Given the description of an element on the screen output the (x, y) to click on. 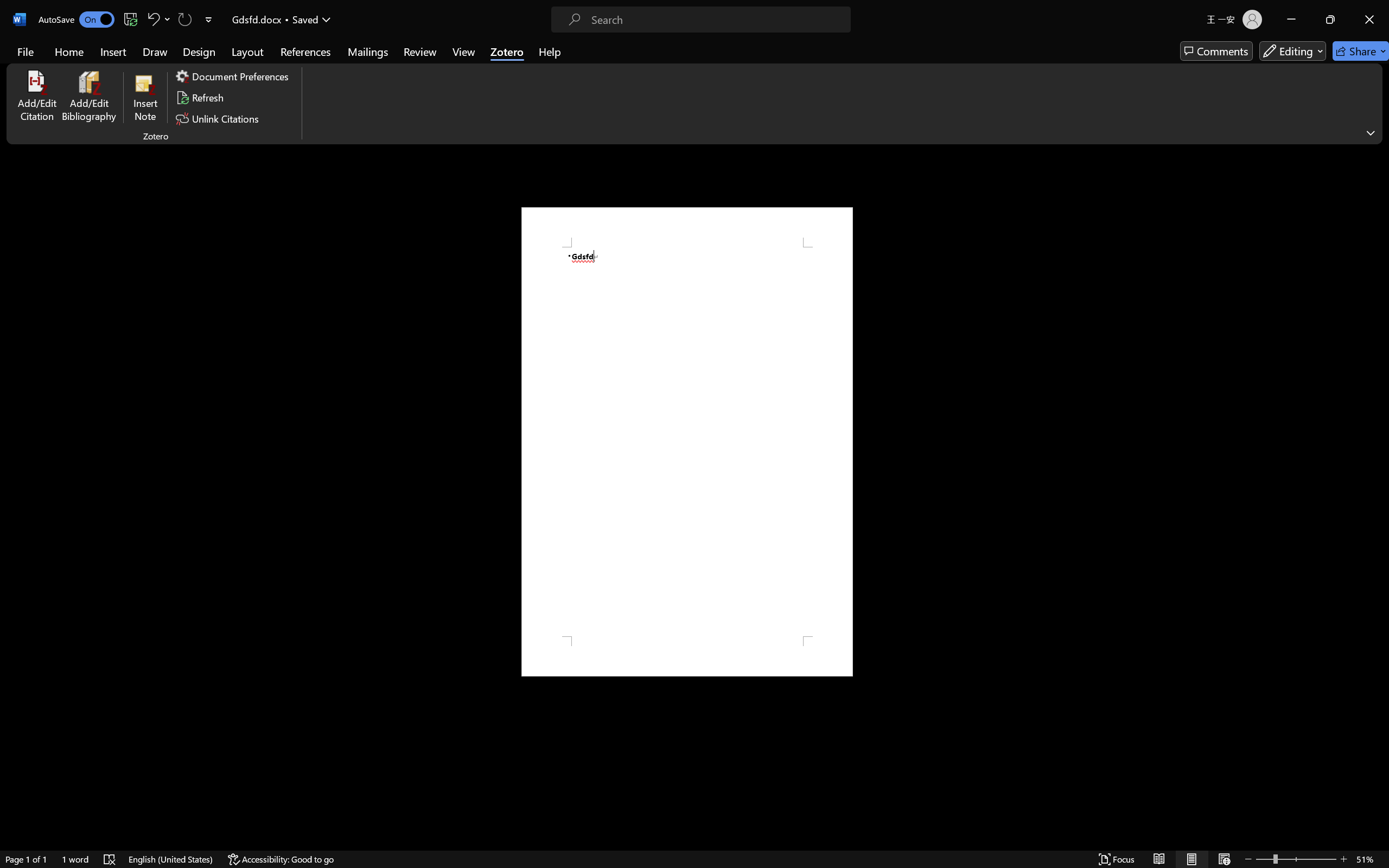
Page 1 content (686, 441)
